Given the description of an element on the screen output the (x, y) to click on. 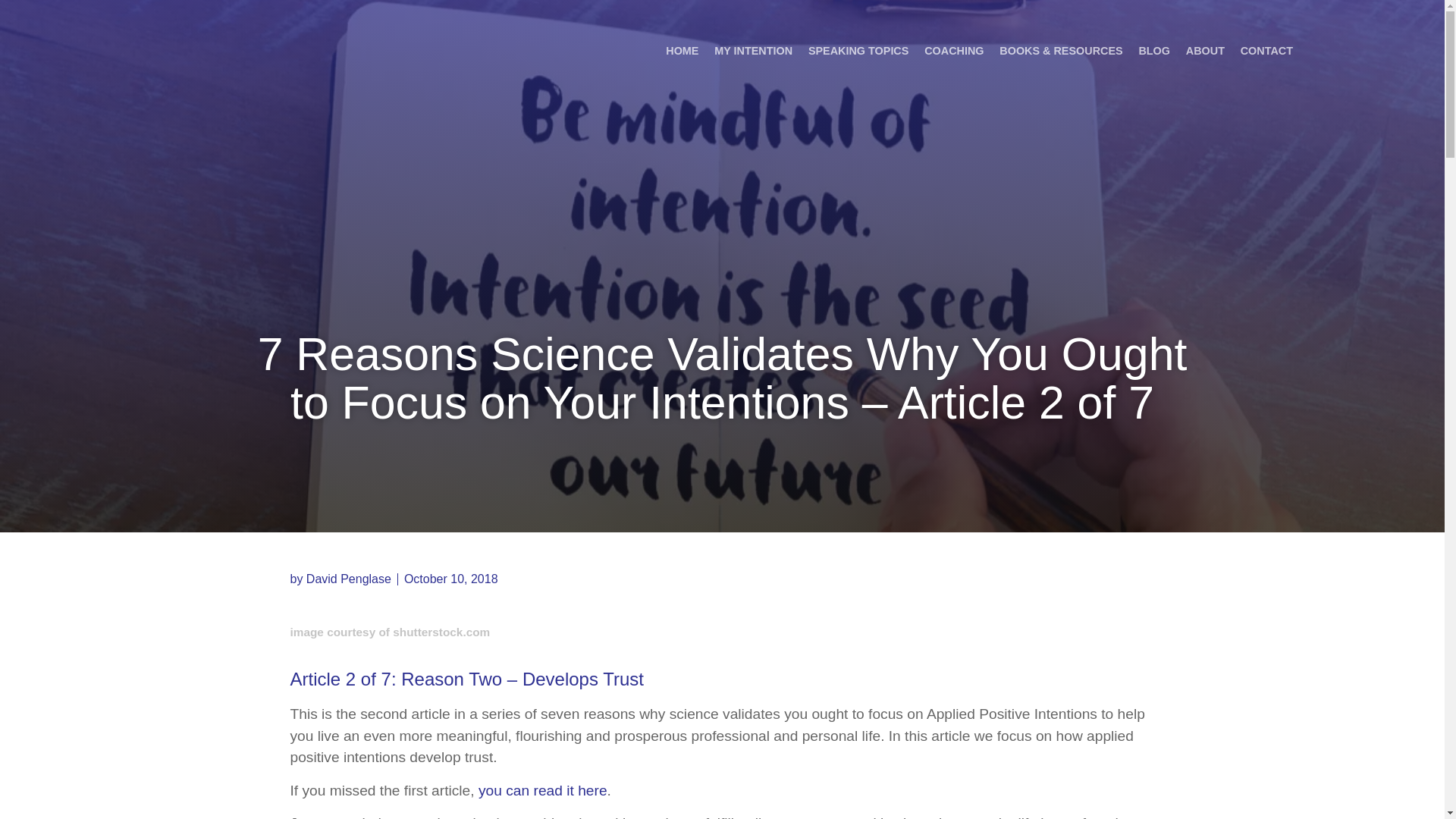
LOG IN (1364, 50)
COACHING (954, 50)
MY INTENTION (753, 50)
CONTACT (1266, 50)
SPEAKING TOPICS (858, 50)
you can read it here (543, 790)
